Given the description of an element on the screen output the (x, y) to click on. 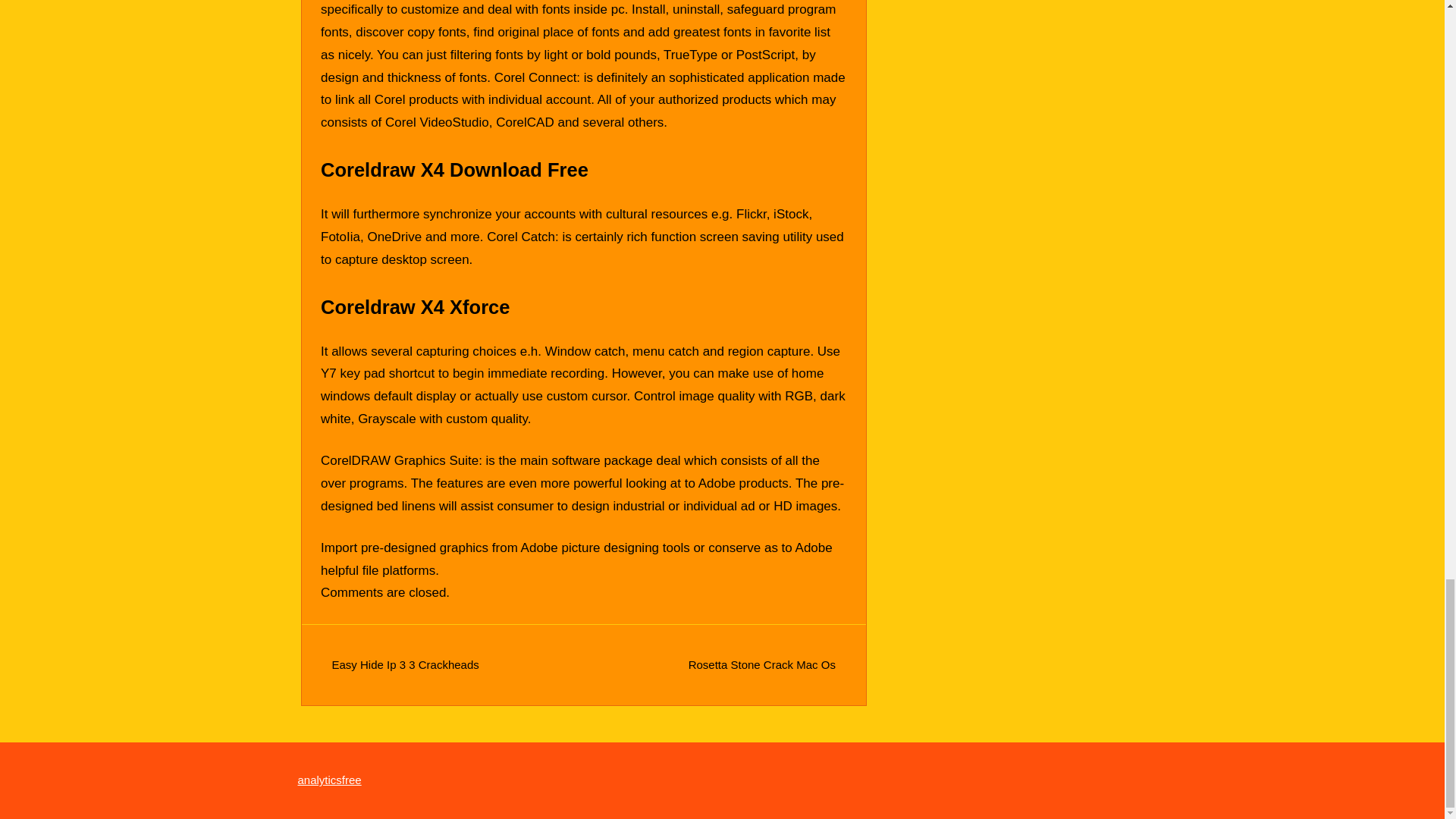
Easy Hide Ip 3 3 Crackheads (405, 664)
analyticsfree (329, 779)
analyticsfree (329, 779)
Comments are closed. (384, 592)
Rosetta Stone Crack Mac Os (761, 664)
